Given the description of an element on the screen output the (x, y) to click on. 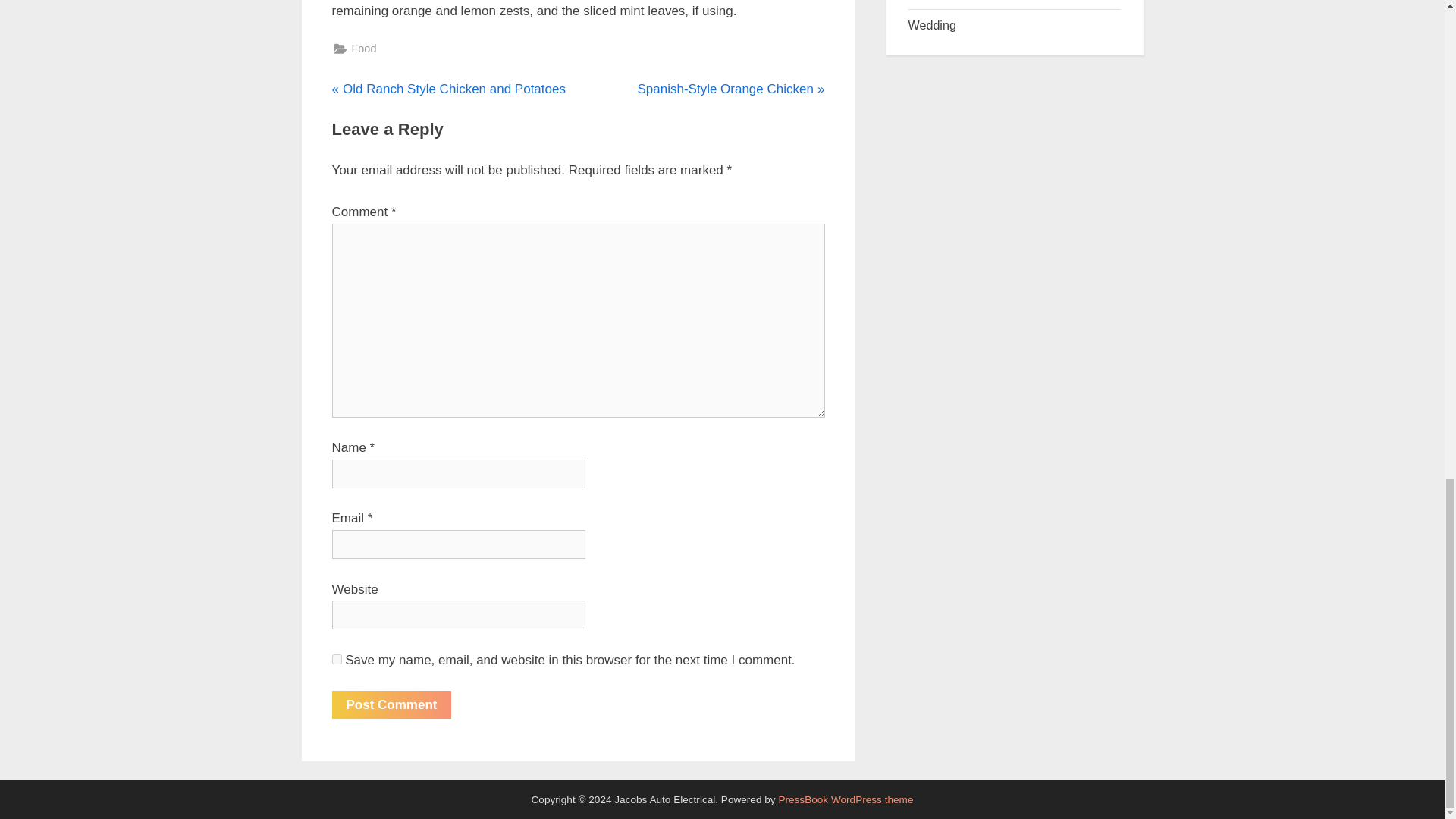
Post Comment (391, 705)
yes (730, 87)
Post Comment (336, 659)
Wedding (391, 705)
Food (932, 24)
